Given the description of an element on the screen output the (x, y) to click on. 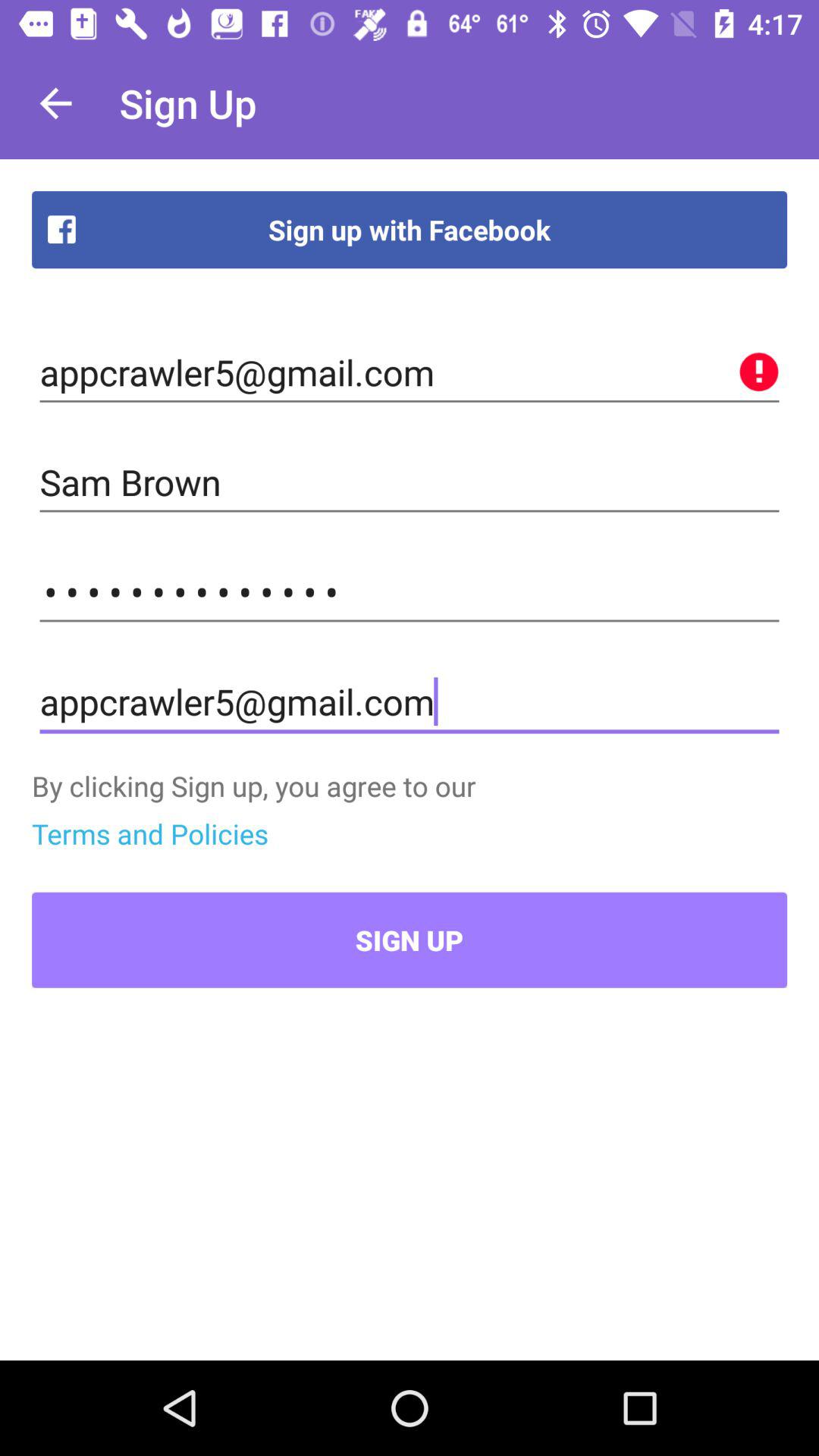
scroll to the sam brown icon (409, 482)
